Given the description of an element on the screen output the (x, y) to click on. 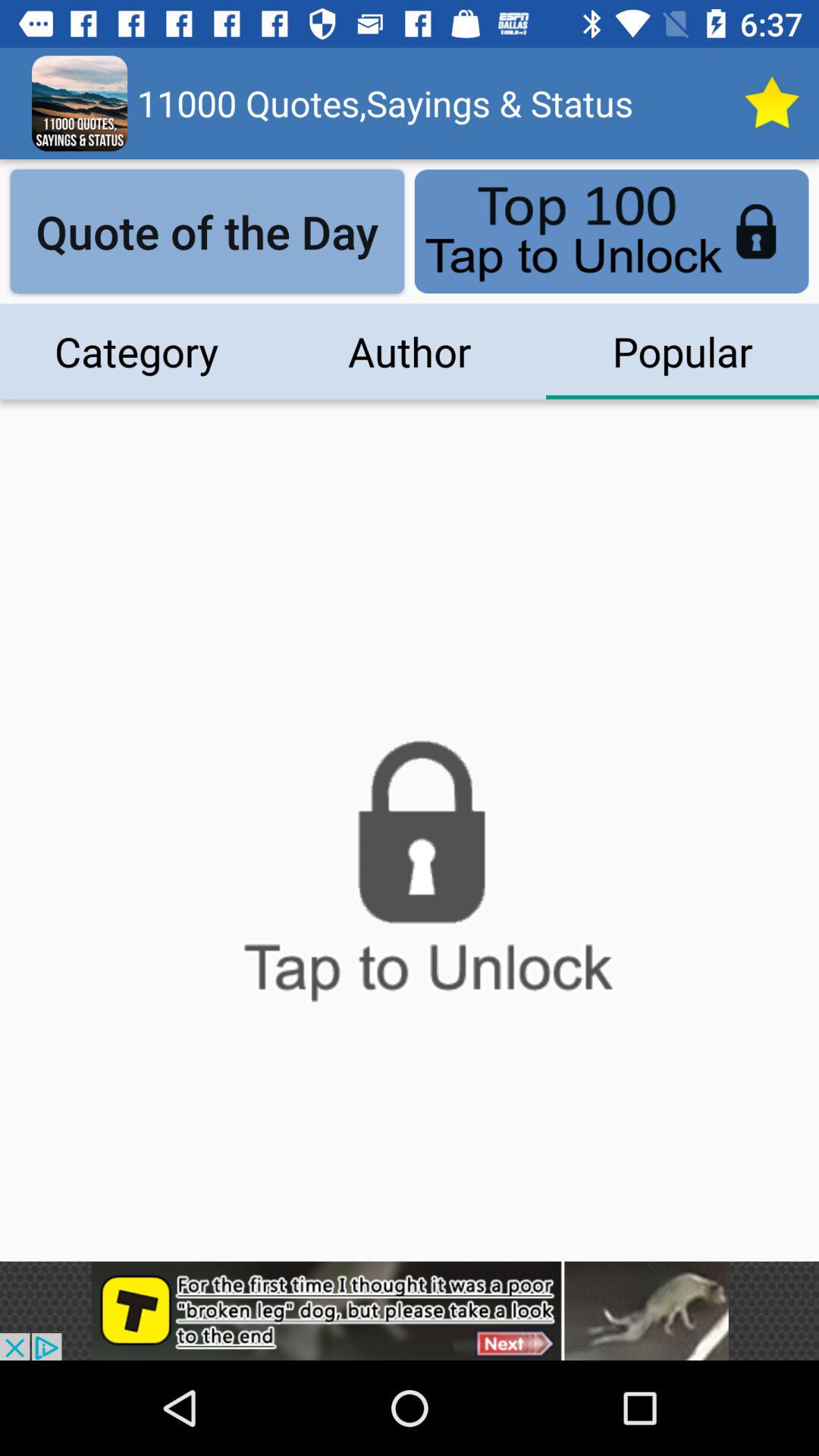
advertisement banner (409, 1310)
